Given the description of an element on the screen output the (x, y) to click on. 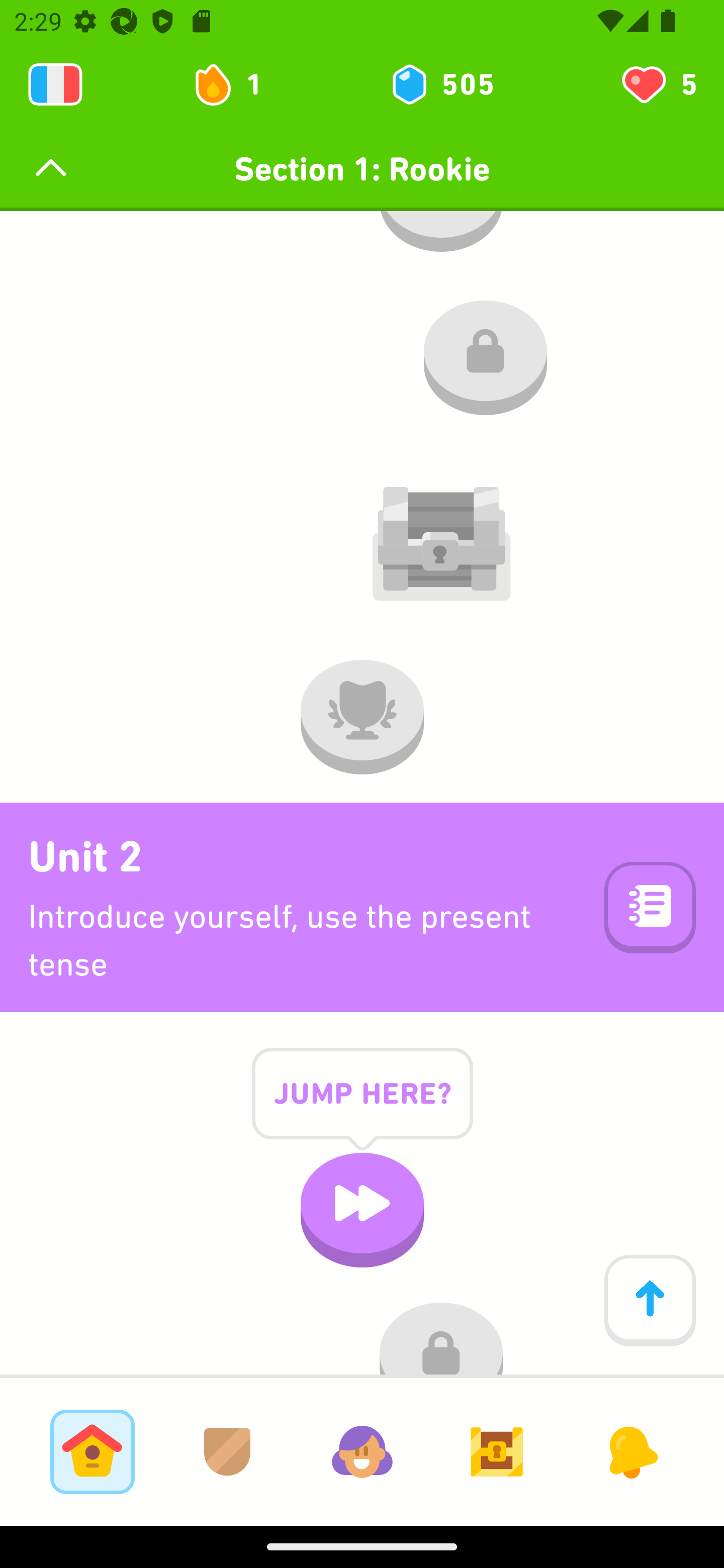
Learning 2131888976 (55, 84)
1 day streak 1 (236, 84)
505 (441, 84)
You have 5 hearts left 5 (657, 84)
Section 1: Rookie (362, 169)
JUMP HERE? (361, 1108)
Learn Tab (91, 1451)
Leagues Tab (227, 1451)
Profile Tab (361, 1451)
Goals Tab (496, 1451)
News Tab (631, 1451)
